Given the description of an element on the screen output the (x, y) to click on. 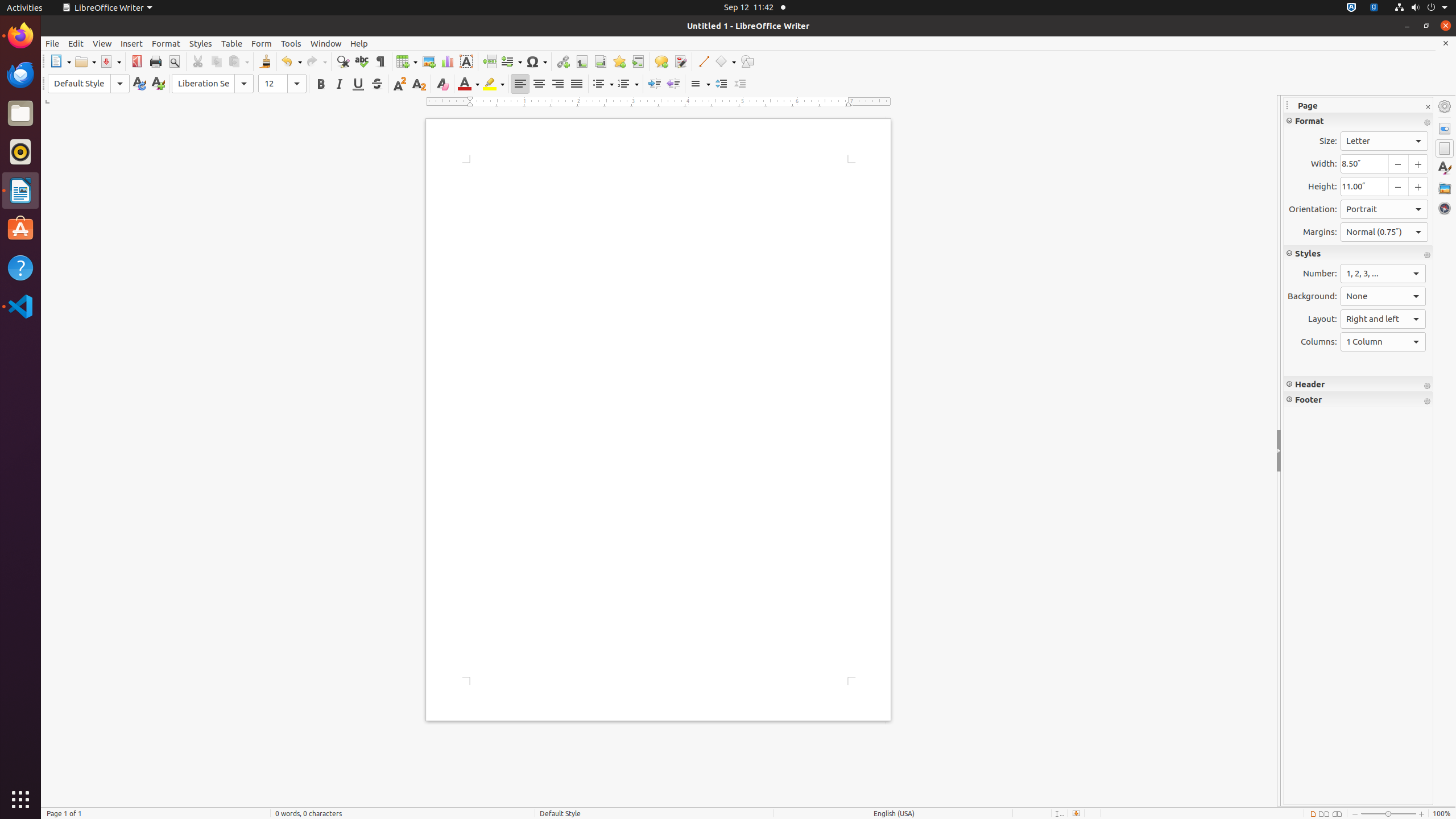
Cut Element type: push-button (197, 61)
Hyperlink Element type: toggle-button (562, 61)
